Given the description of an element on the screen output the (x, y) to click on. 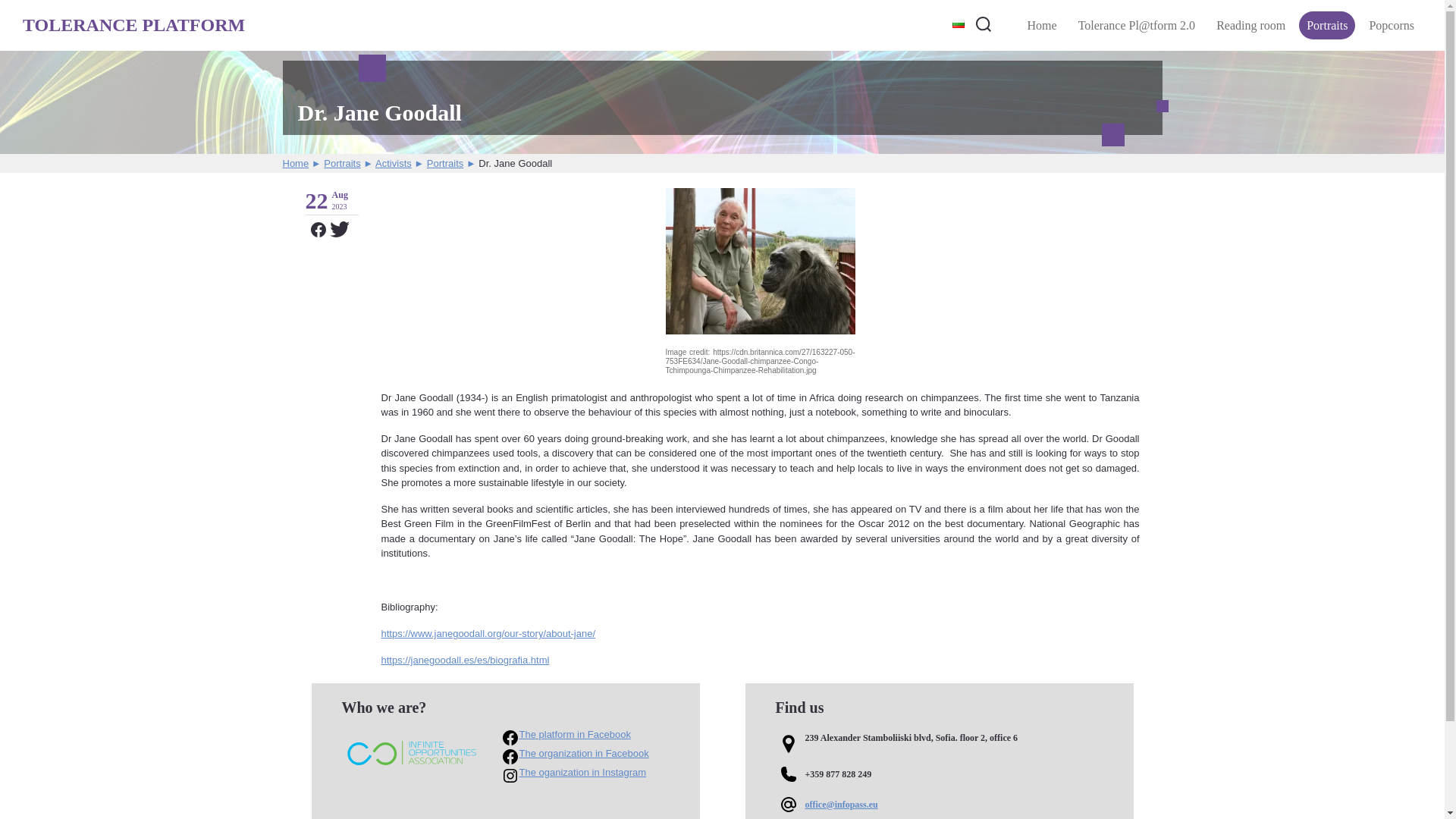
Home (1042, 25)
Portraits (1326, 25)
E-Mail (938, 804)
Phone (938, 774)
Address (938, 743)
TOLERANCE PLATFORM (133, 25)
Popcorns (1391, 25)
Reading room (1250, 25)
